Given the description of an element on the screen output the (x, y) to click on. 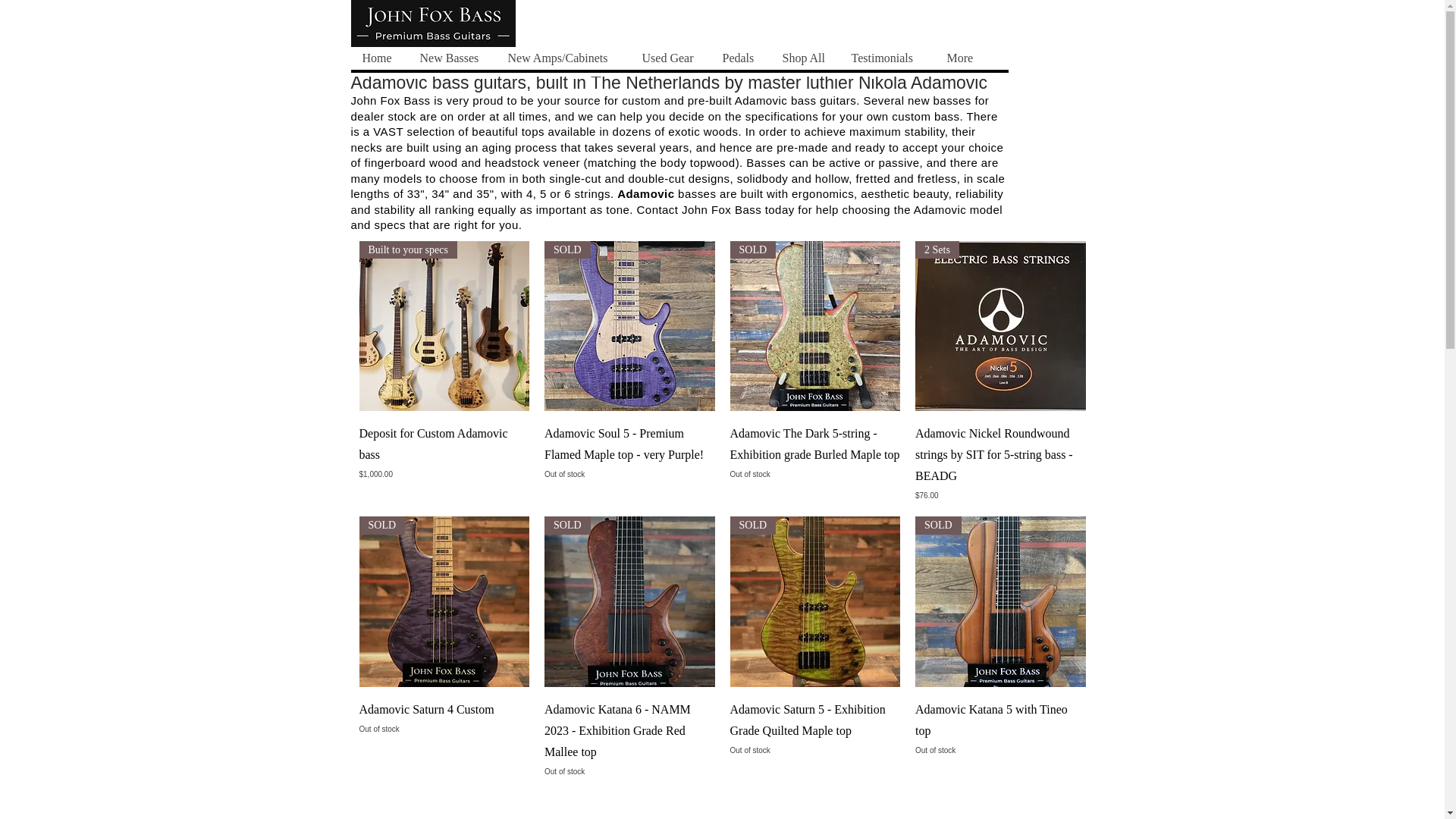
Built to your specs (444, 325)
Shop All (805, 57)
Home (378, 57)
Pedals (740, 57)
Testimonials (886, 57)
Facebook Like (609, 31)
New Basses (451, 57)
SOLD (629, 325)
Used Gear (669, 57)
